Given the description of an element on the screen output the (x, y) to click on. 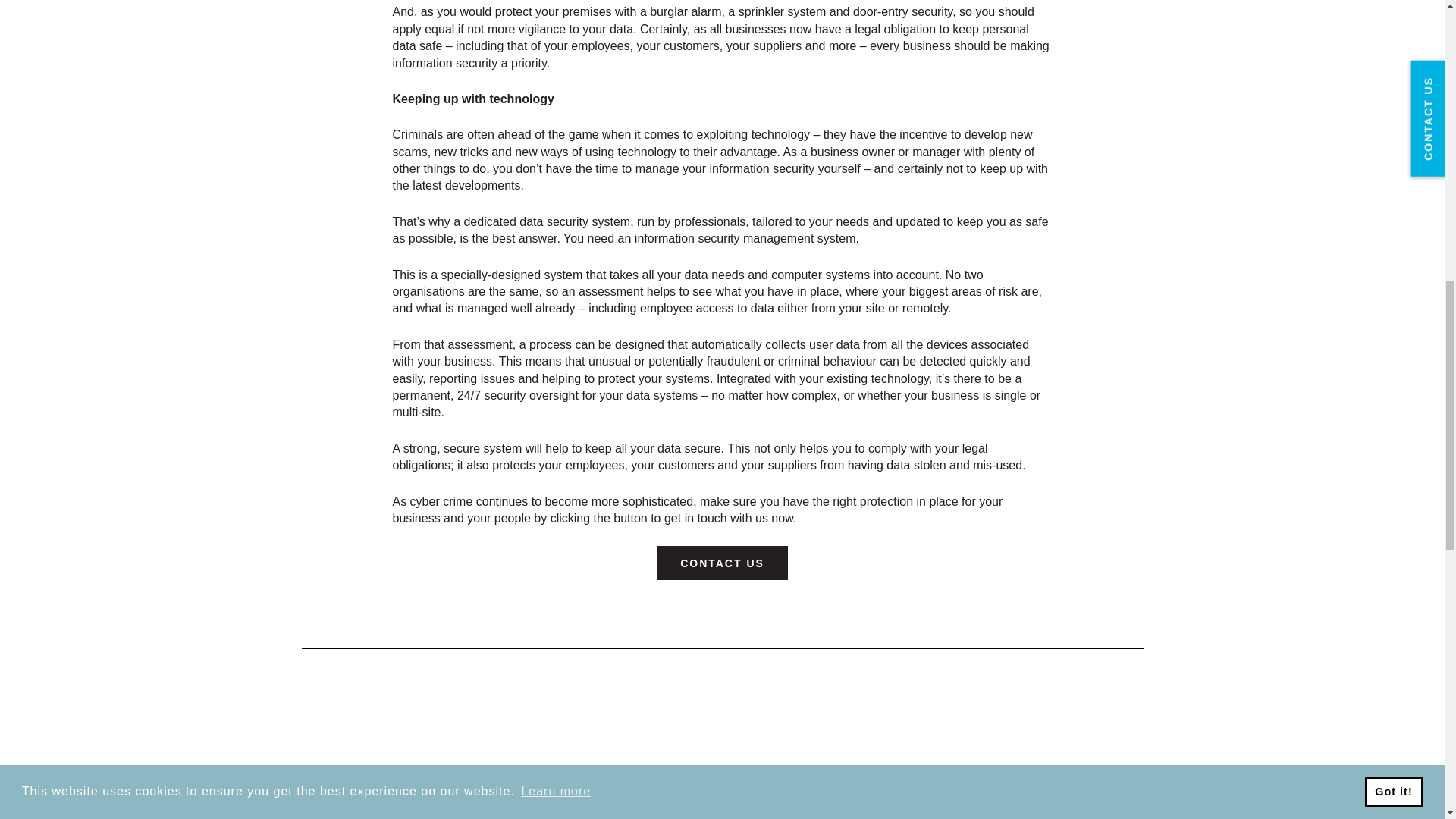
CONTACT US (721, 562)
